Given the description of an element on the screen output the (x, y) to click on. 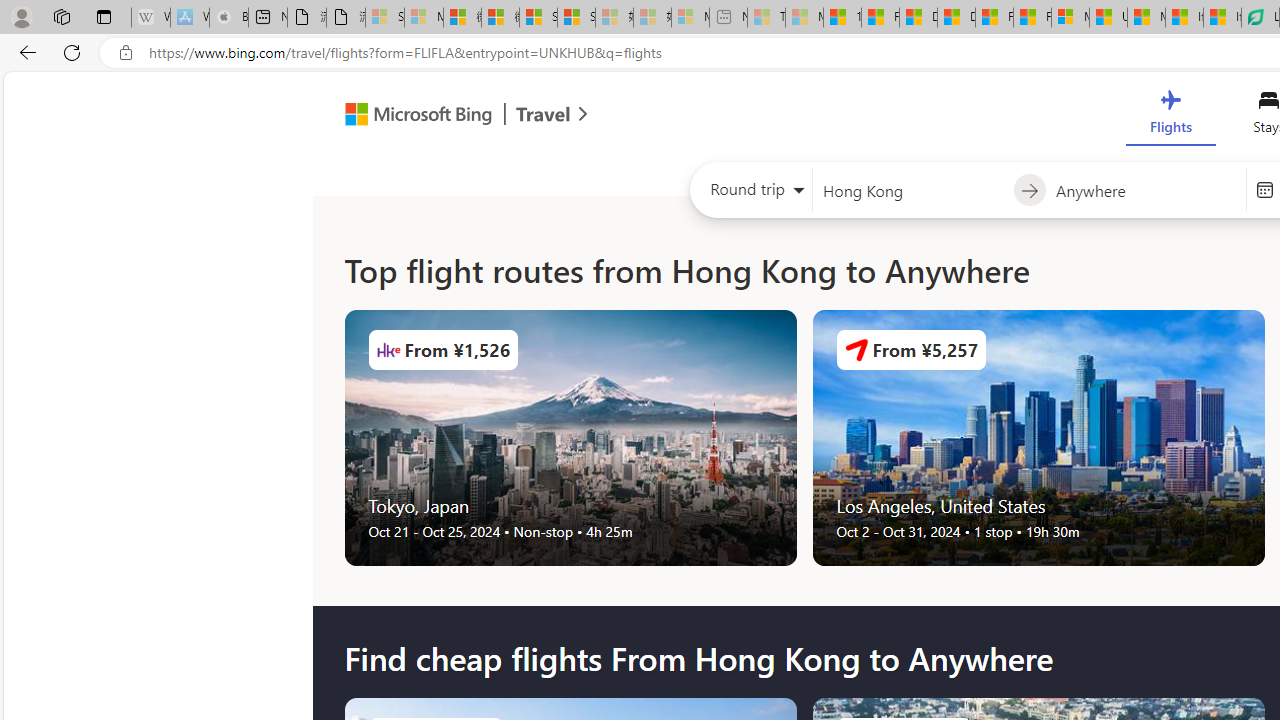
Flights (1170, 116)
Airlines Logo (856, 349)
Top Stories - MSN - Sleeping (765, 17)
Foo BAR | Trusted Community Engagement and Contributions (1031, 17)
Select trip type (750, 193)
to (1029, 191)
Microsoft Services Agreement - Sleeping (423, 17)
